Given the description of an element on the screen output the (x, y) to click on. 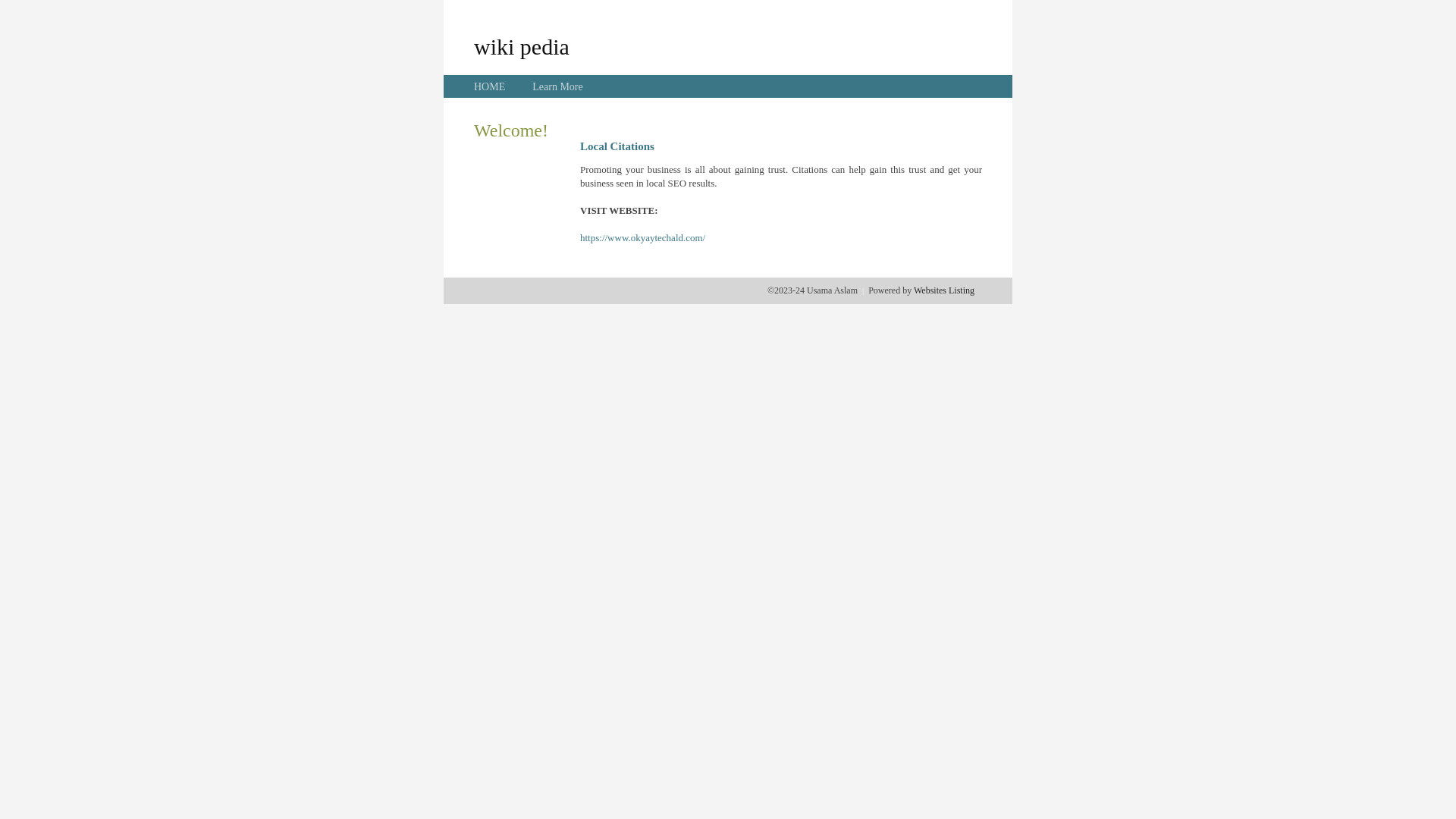
Websites Listing Element type: text (943, 290)
https://www.okyaytechald.com/ Element type: text (642, 237)
wiki pedia Element type: text (521, 46)
Learn More Element type: text (557, 86)
HOME Element type: text (489, 86)
